Given the description of an element on the screen output the (x, y) to click on. 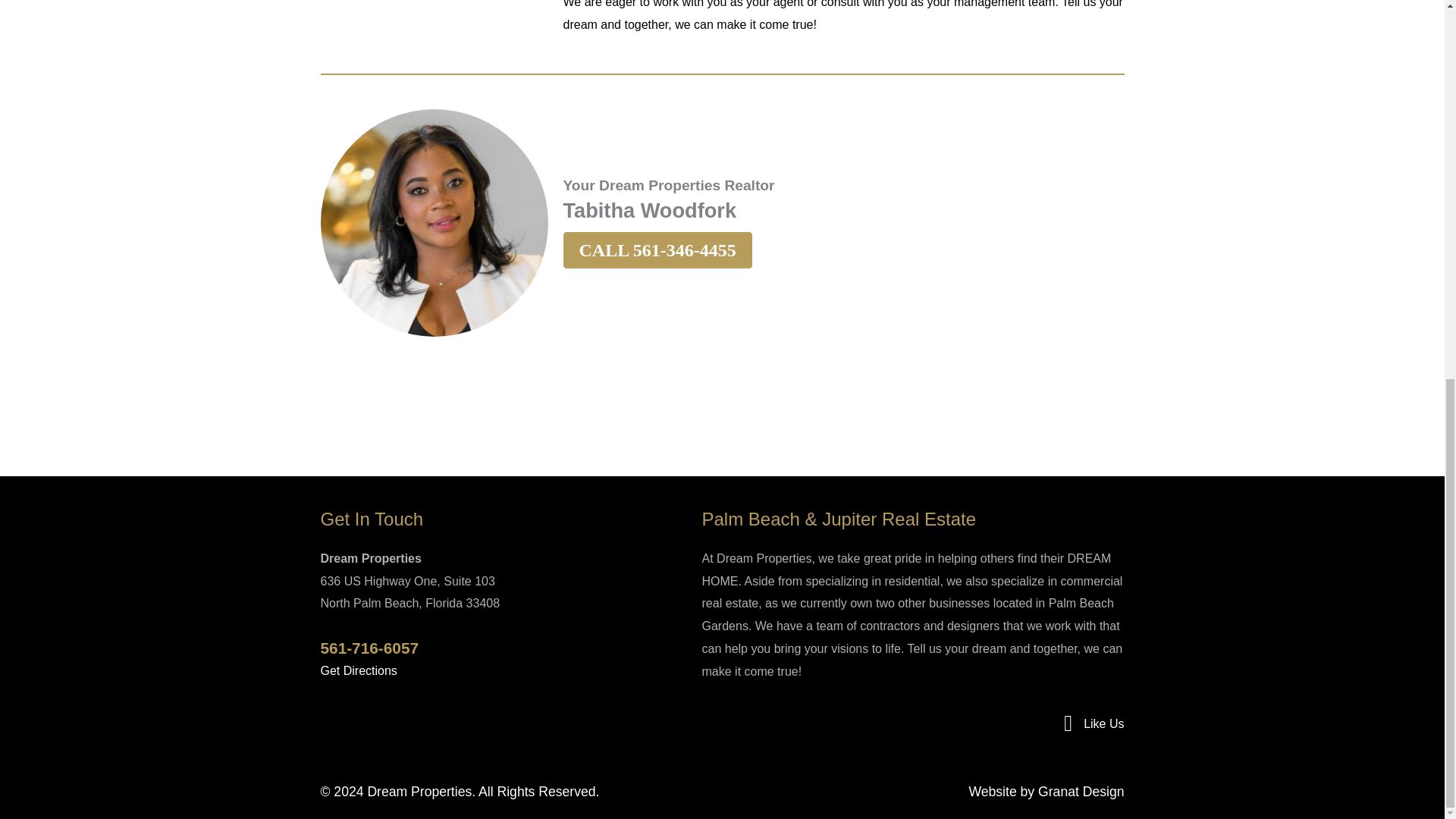
tabitha (433, 222)
Click Here (656, 249)
561-716-6057 (369, 647)
Website by Granat Design (1046, 791)
CALL 561-346-4455 (656, 249)
Website by Granat Design (1046, 791)
Like Us (1103, 723)
Get Directions (358, 670)
